Given the description of an element on the screen output the (x, y) to click on. 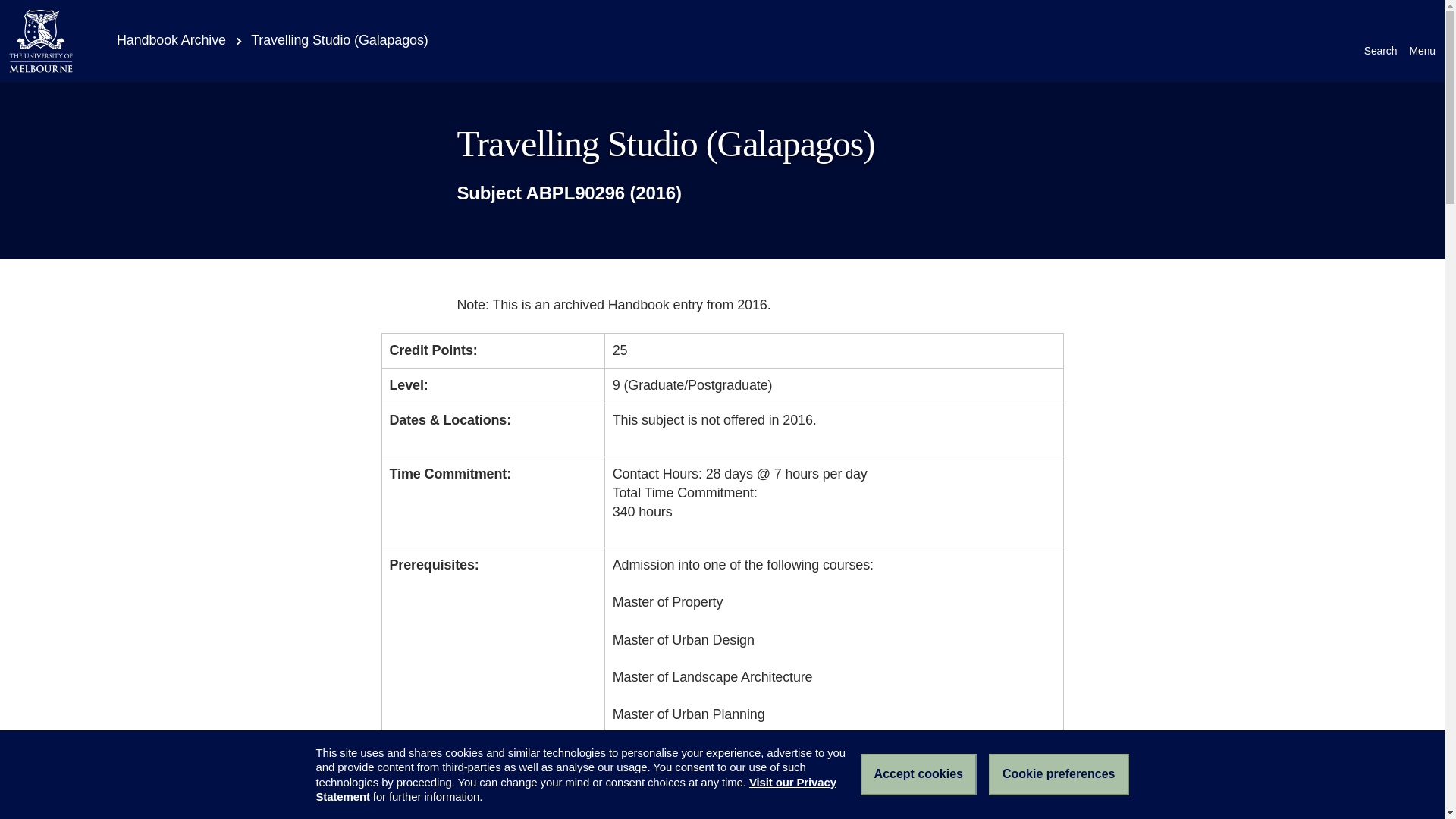
Accept cookies (918, 773)
Handbook Archive (161, 39)
Search (1380, 40)
Visit our Privacy Statement (575, 789)
Cookie preferences (1058, 773)
Handbook Archive (161, 39)
Search (1380, 40)
